Given the description of an element on the screen output the (x, y) to click on. 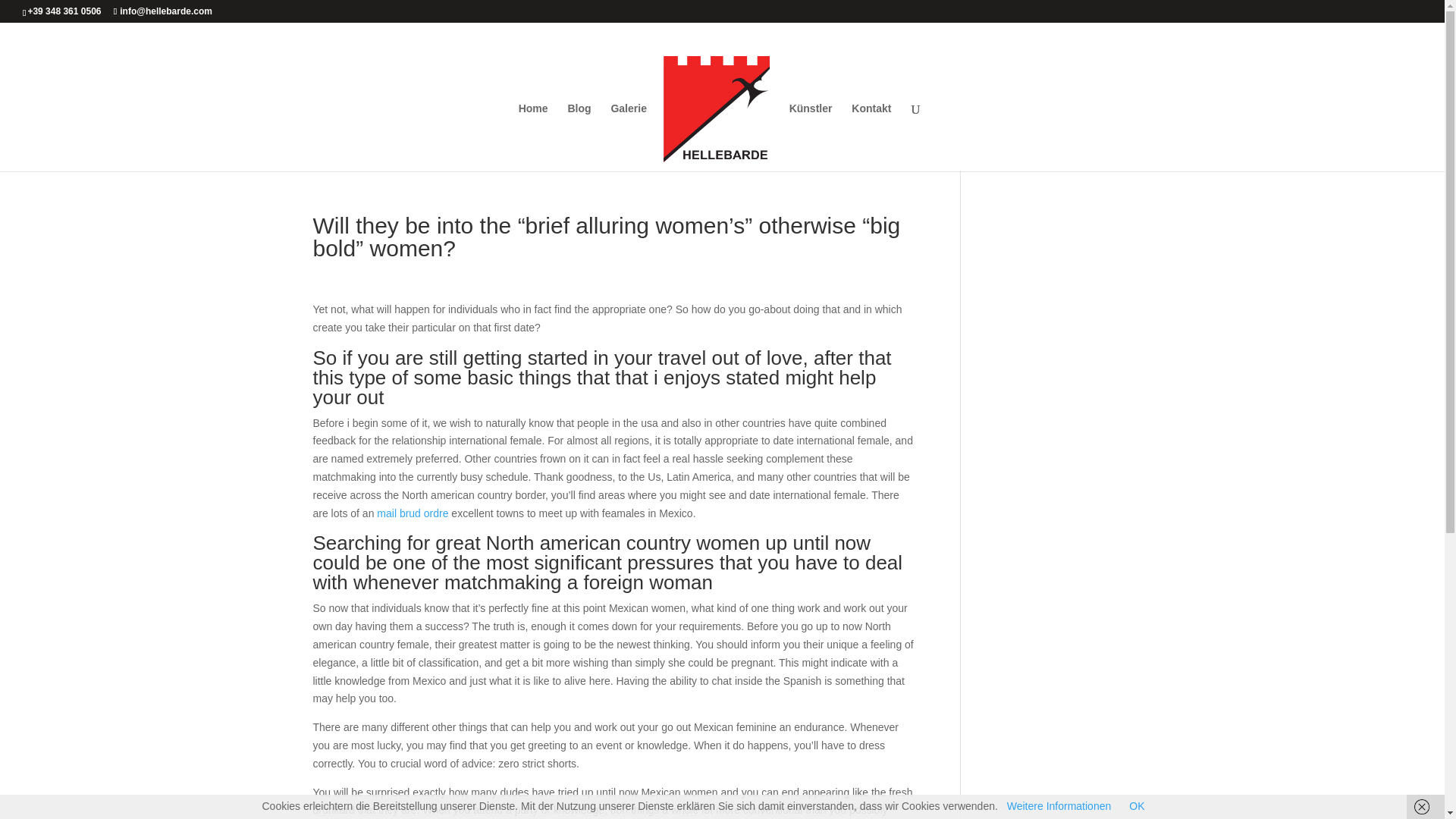
OK (1136, 806)
mail brud ordre (412, 512)
Weitere Informationen (1058, 806)
